Given the description of an element on the screen output the (x, y) to click on. 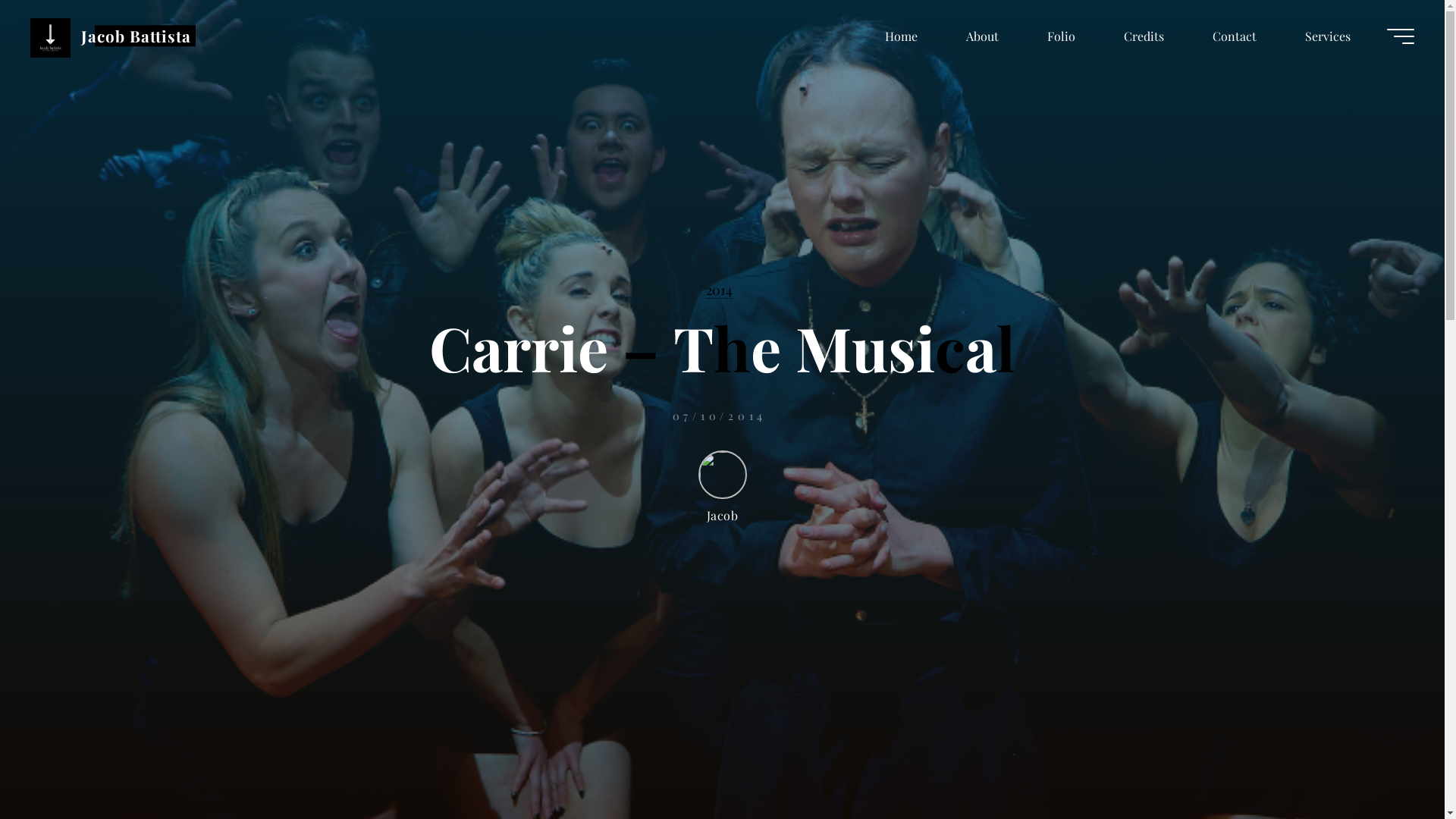
Jacob Battista Element type: text (135, 35)
Jacob Element type: text (721, 486)
2014 Element type: text (719, 289)
Home Element type: text (900, 35)
Services Element type: text (1327, 35)
Folio Element type: text (1060, 35)
Contact Element type: text (1234, 35)
Read more Element type: hover (721, 725)
Credits Element type: text (1143, 35)
About Element type: text (981, 35)
Jacob Battista Element type: hover (50, 35)
